Given the description of an element on the screen output the (x, y) to click on. 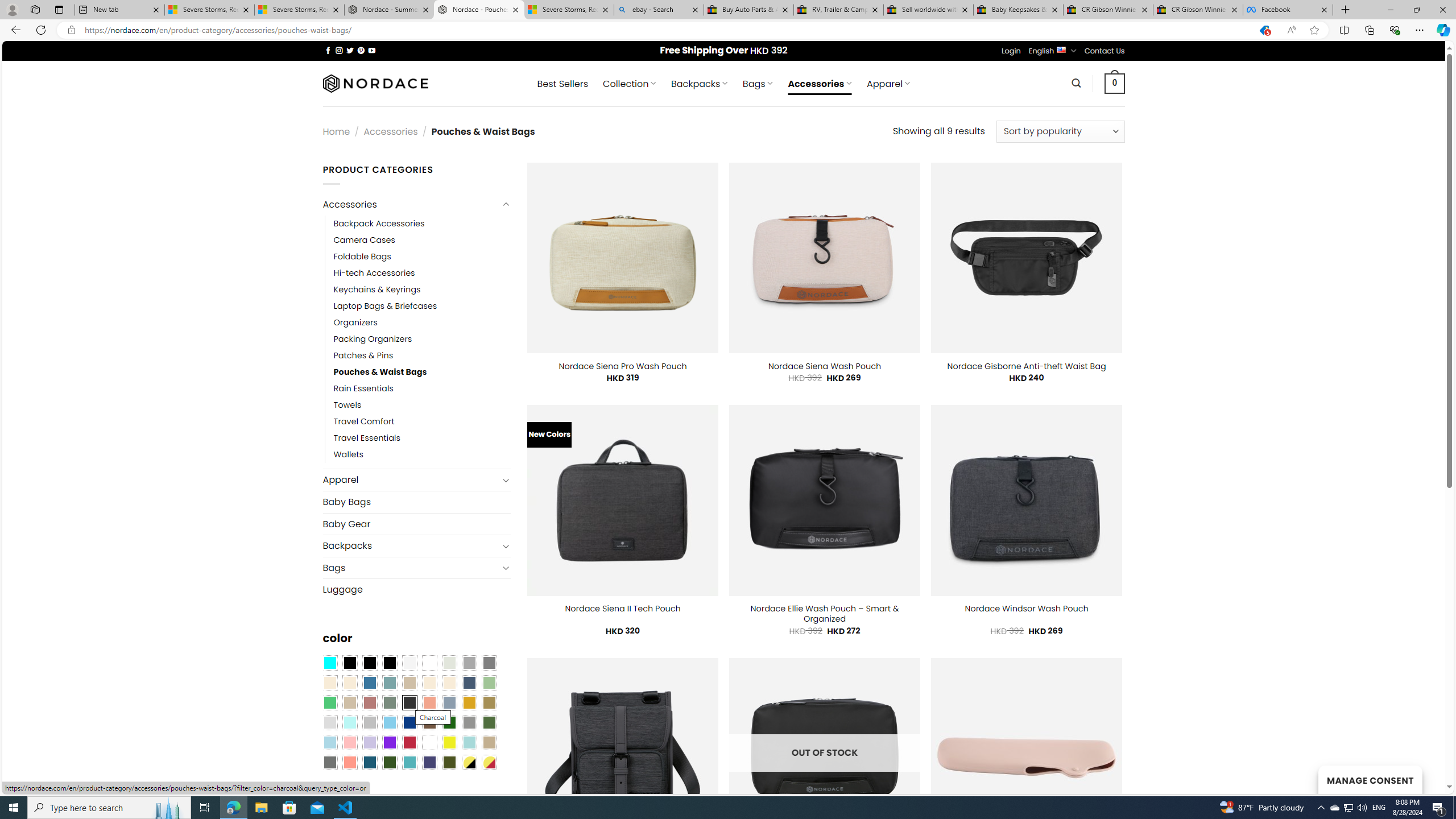
Nordace Siena Pro Wash Pouch (623, 365)
Baby Gear (416, 523)
 Best Sellers (562, 83)
Forest (389, 762)
Foldable Bags (422, 256)
Light Purple (369, 741)
Pouches & Waist Bags (422, 371)
Wallets (348, 454)
English (1061, 49)
Silver (369, 721)
